Given the description of an element on the screen output the (x, y) to click on. 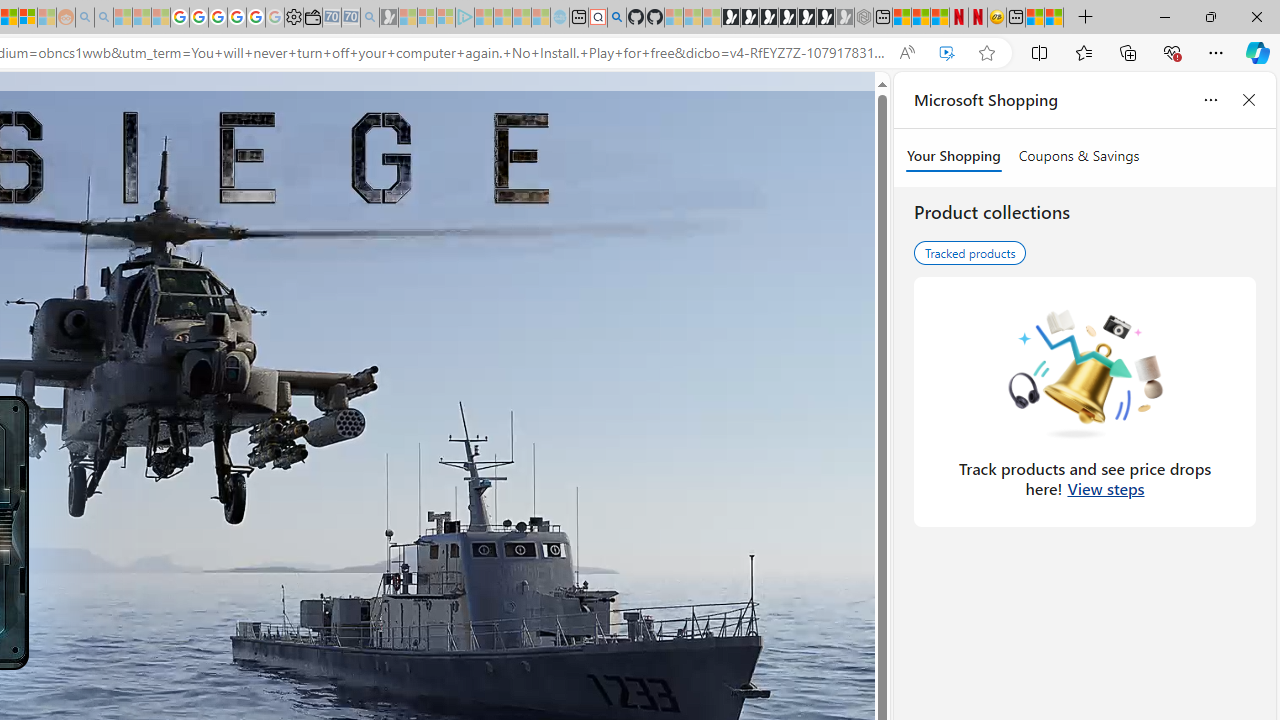
Home | Sky Blue Bikes - Sky Blue Bikes - Sleeping (559, 17)
github - Search (616, 17)
Wallet (312, 17)
Play Cave FRVR in your browser | Games from Microsoft Start (769, 17)
